Given the description of an element on the screen output the (x, y) to click on. 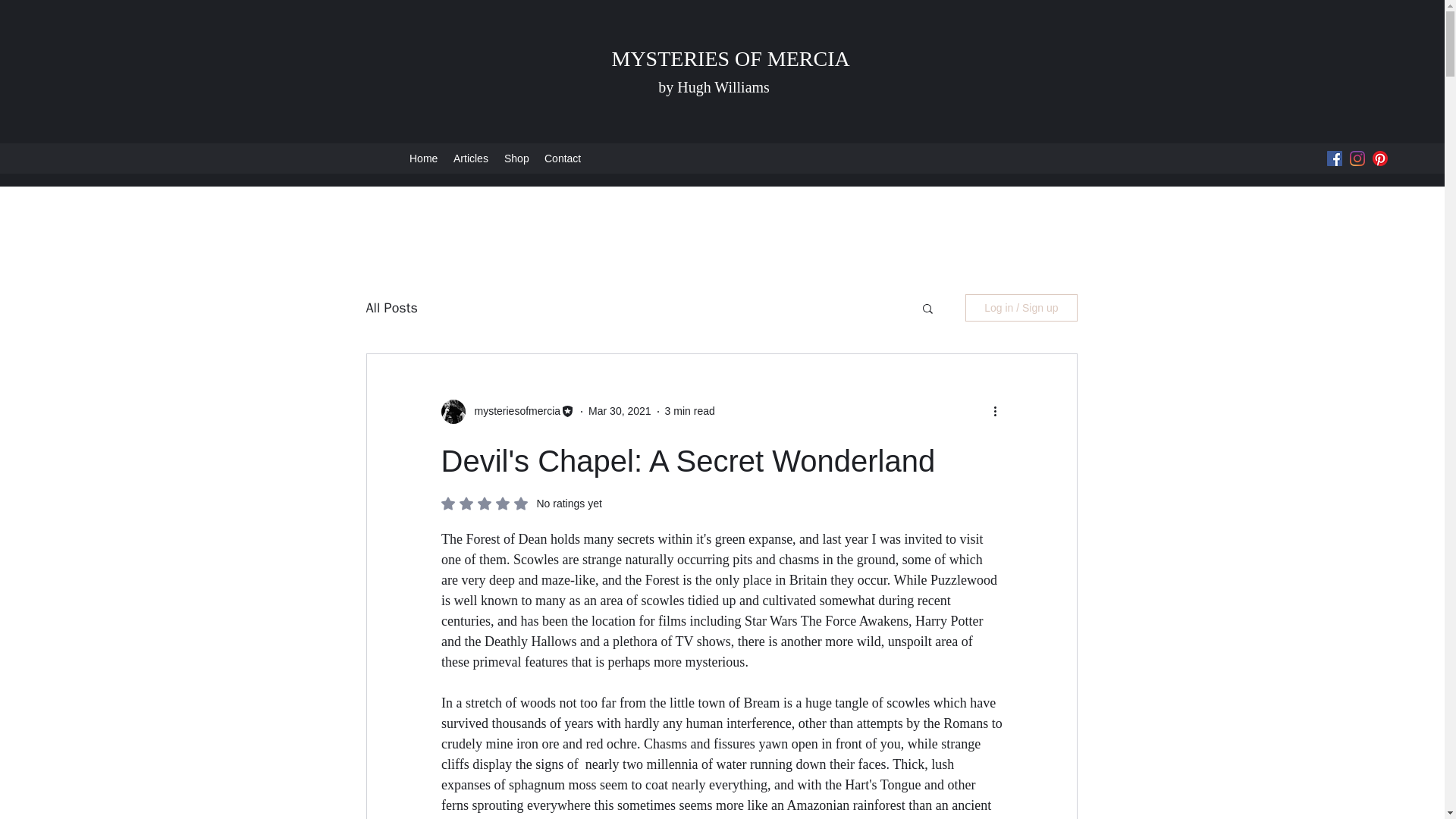
Articles (470, 158)
mysteriesofmercia (512, 411)
Shop (516, 158)
by Hugh Williams (714, 86)
Contact (563, 158)
3 min read (689, 410)
Home (423, 158)
Mar 30, 2021 (521, 502)
